Given the description of an element on the screen output the (x, y) to click on. 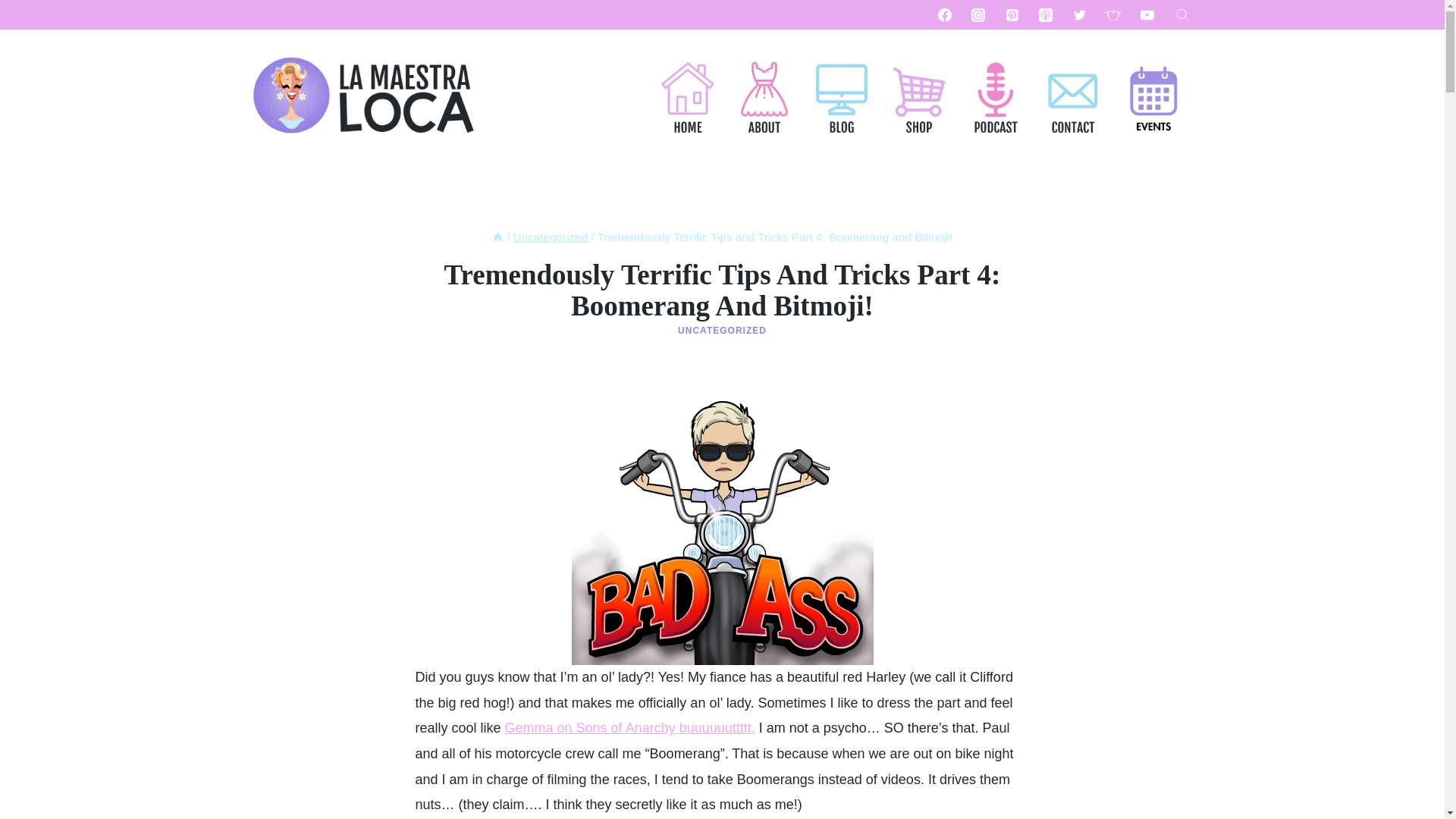
Uncategorized (550, 236)
Gemma on Sons of Anarchy buuuuuuttttt, (630, 727)
UNCATEGORIZED (722, 330)
